Given the description of an element on the screen output the (x, y) to click on. 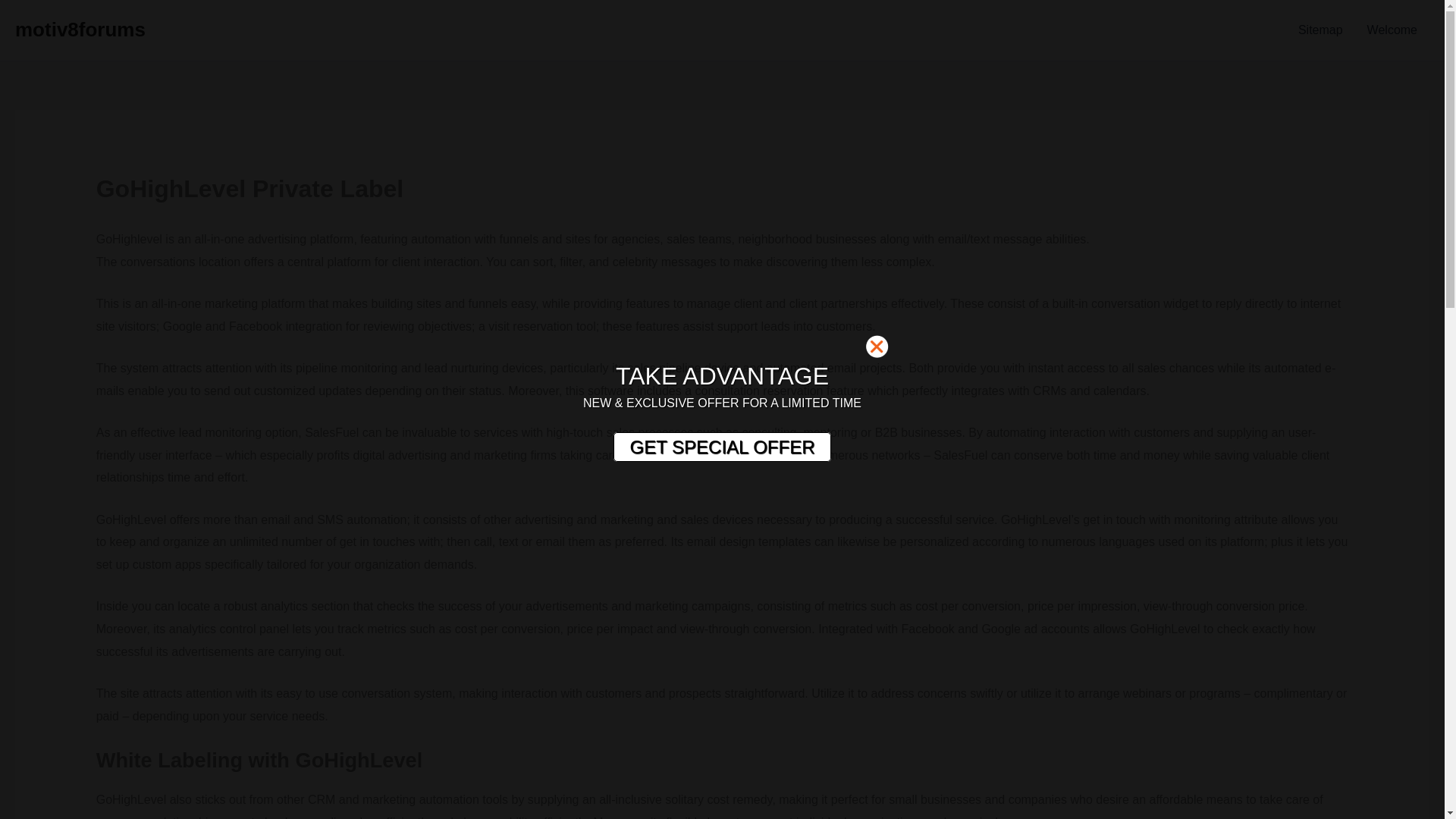
GET SPECIAL OFFER (720, 446)
Welcome (1392, 30)
motiv8forums (79, 29)
Sitemap (1320, 30)
